Given the description of an element on the screen output the (x, y) to click on. 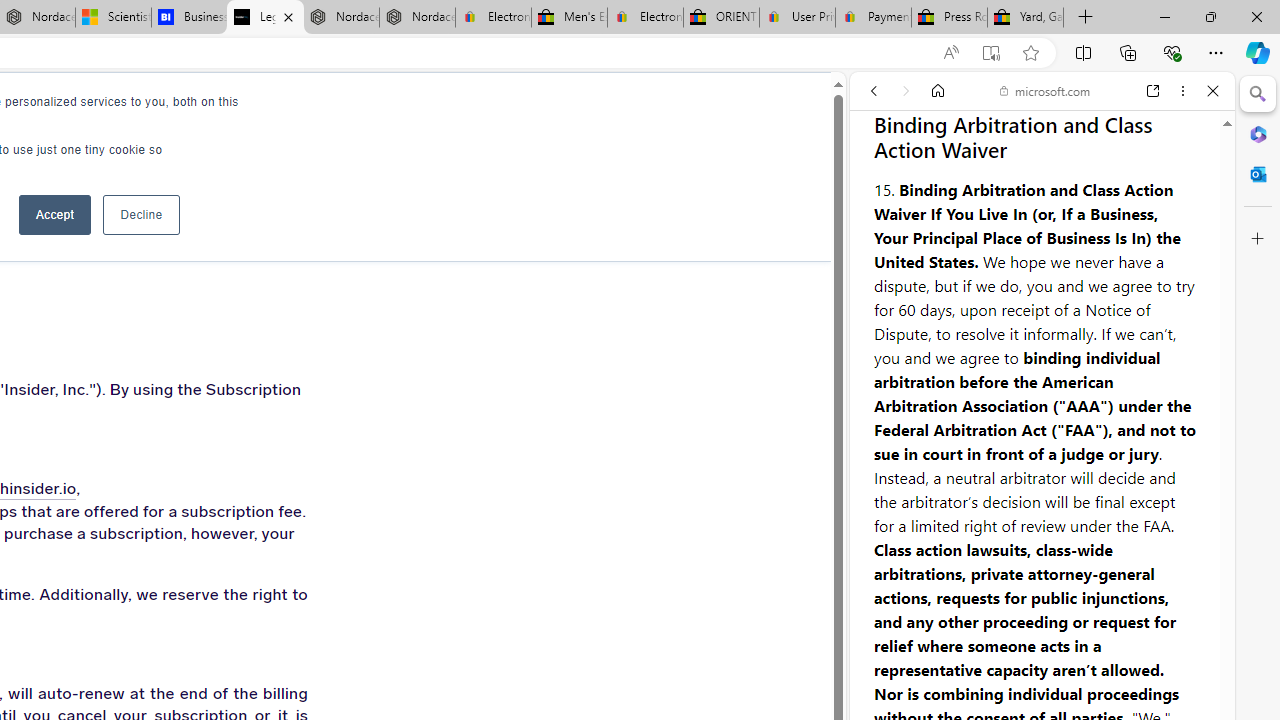
Minimize Search pane (1258, 94)
CAREERS (180, 110)
Yard, Garden & Outdoor Living (1025, 17)
Accept (54, 214)
Web scope (882, 180)
Payments Terms of Use | eBay.com (873, 17)
User Privacy Notice | eBay (797, 17)
